Given the description of an element on the screen output the (x, y) to click on. 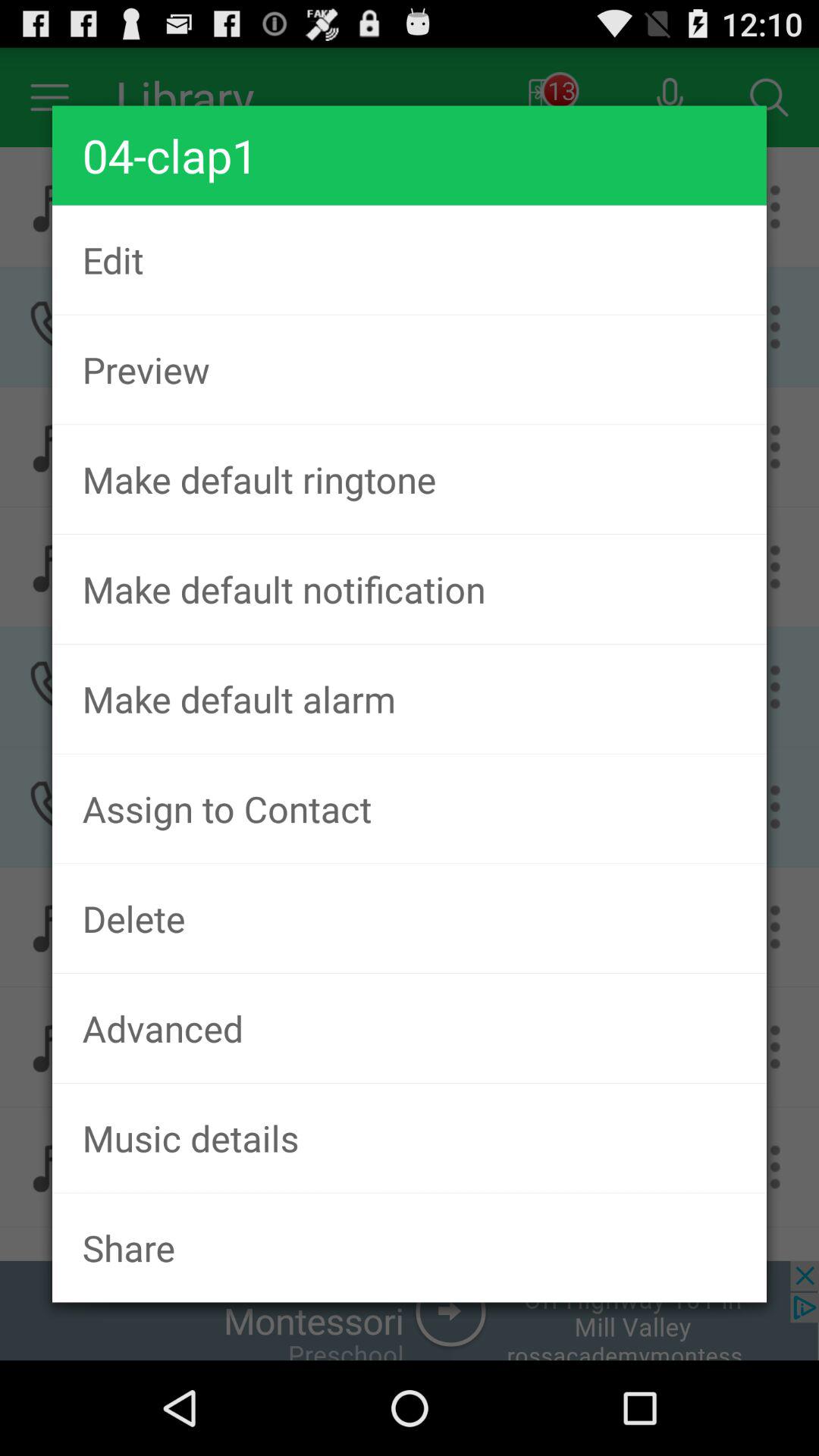
tap edit (409, 259)
